Given the description of an element on the screen output the (x, y) to click on. 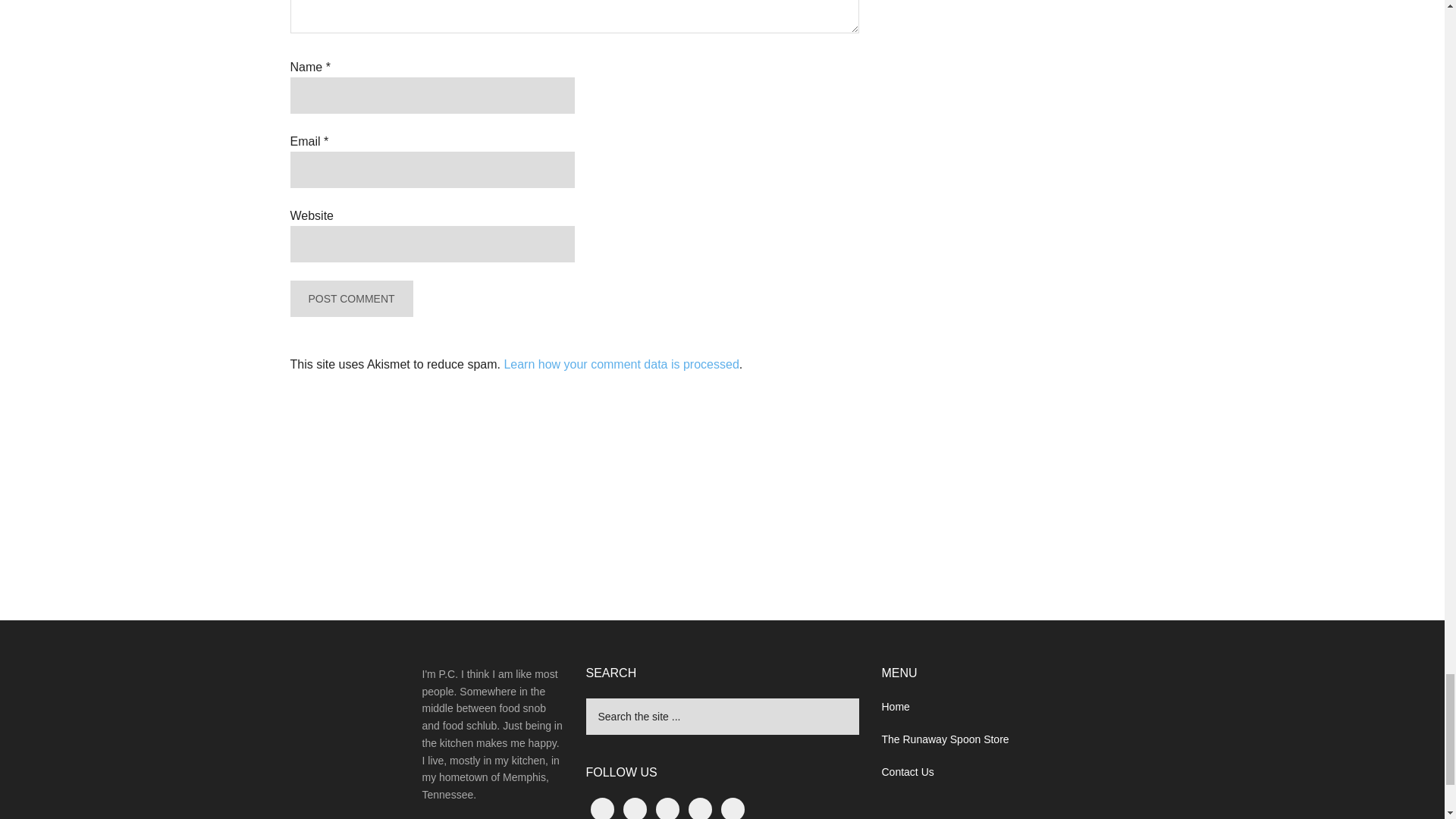
Post Comment (350, 298)
